Given the description of an element on the screen output the (x, y) to click on. 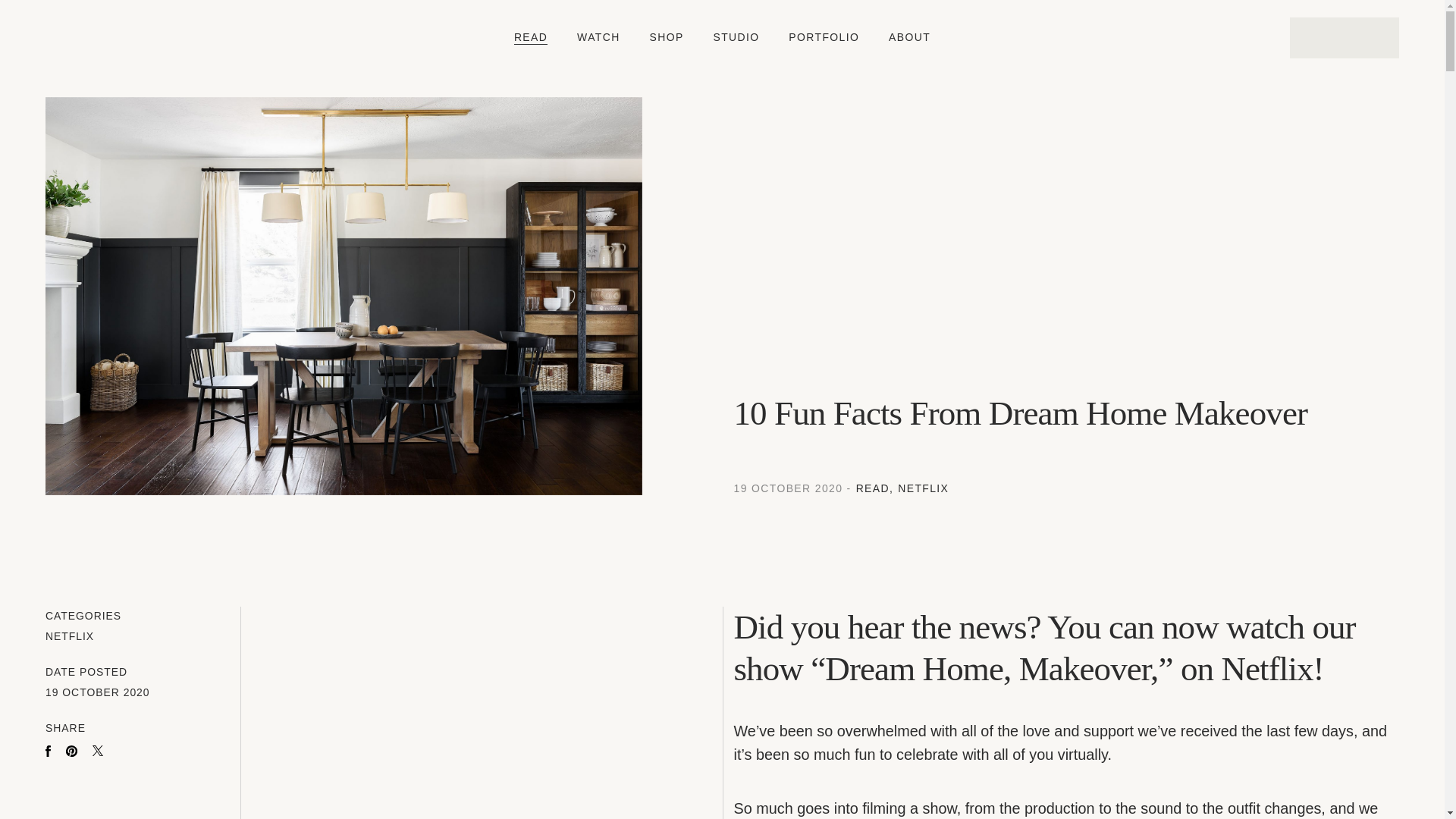
ABOUT (909, 37)
Netflix (923, 488)
WATCH (598, 37)
READ (530, 37)
Netflix (69, 636)
Read (874, 488)
STUDIO (735, 37)
PORTFOLIO (824, 37)
SHOP (666, 37)
